Given the description of an element on the screen output the (x, y) to click on. 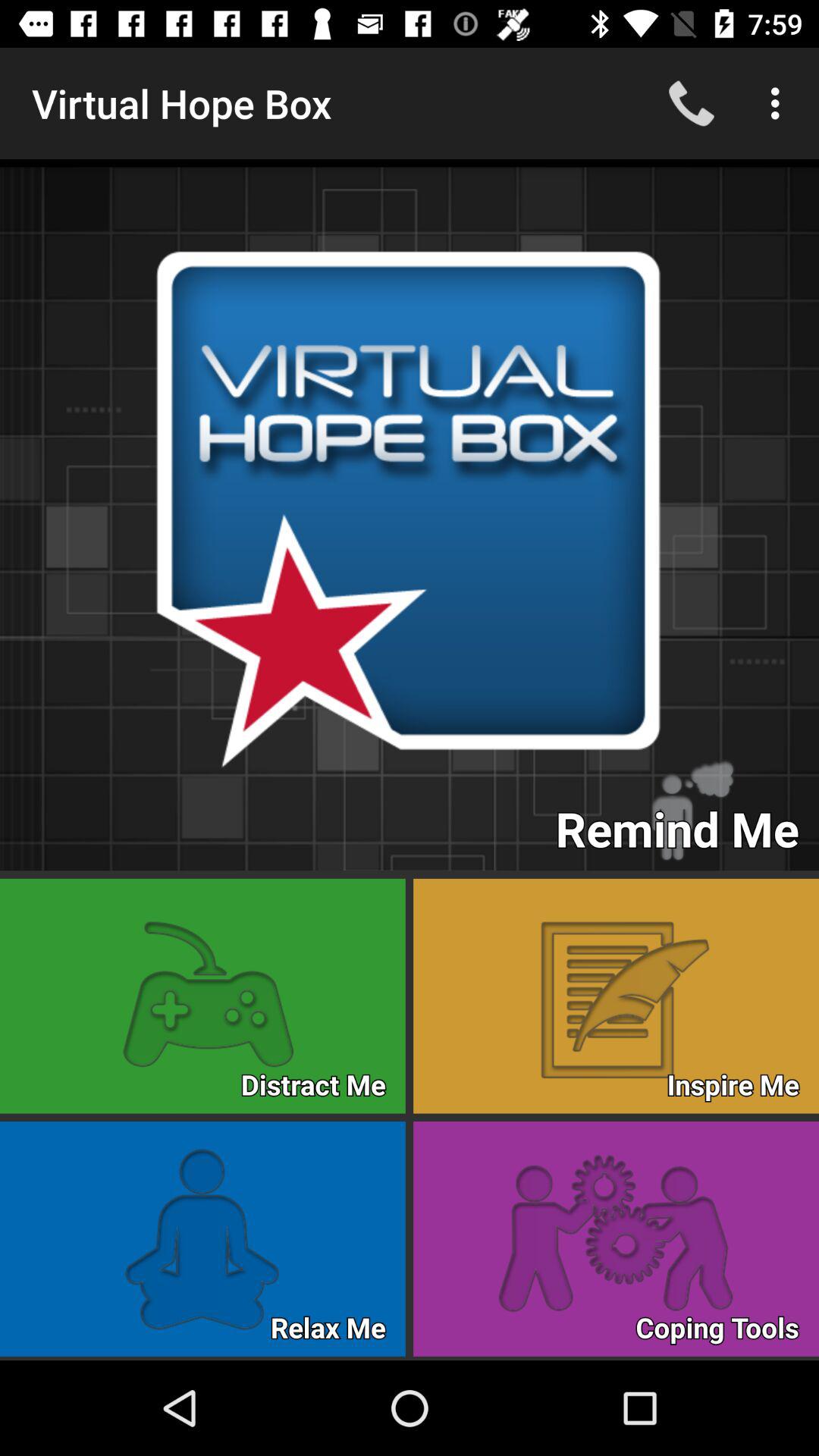
click the item to the right of virtual hope box app (691, 103)
